Given the description of an element on the screen output the (x, y) to click on. 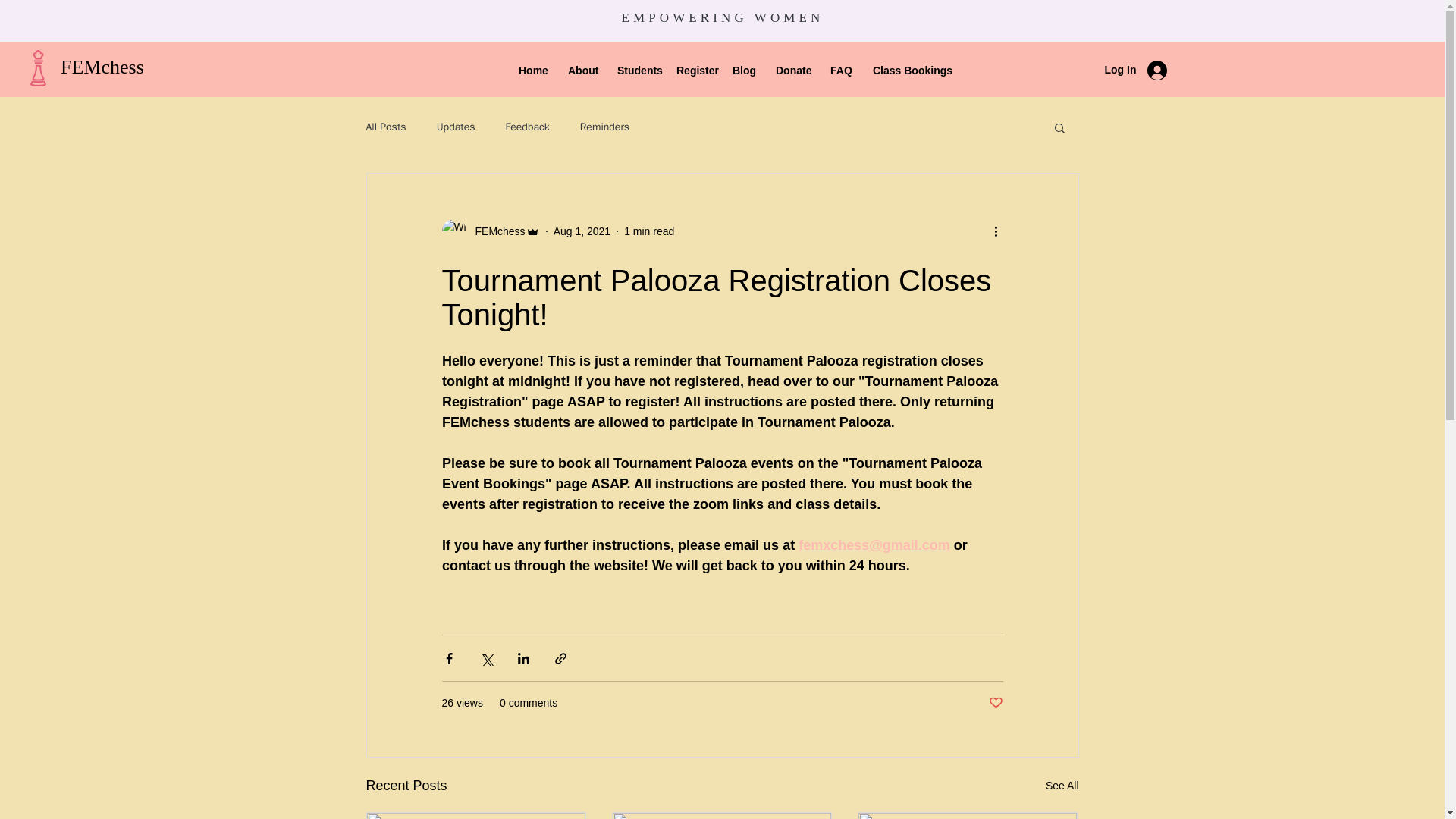
Reminders (603, 127)
FEMchess (494, 230)
Class Bookings (905, 70)
All Posts (385, 127)
Register (692, 70)
See All (1061, 785)
Log In (1134, 70)
Home (531, 70)
FAQ (839, 70)
Aug 1, 2021 (582, 230)
